Given the description of an element on the screen output the (x, y) to click on. 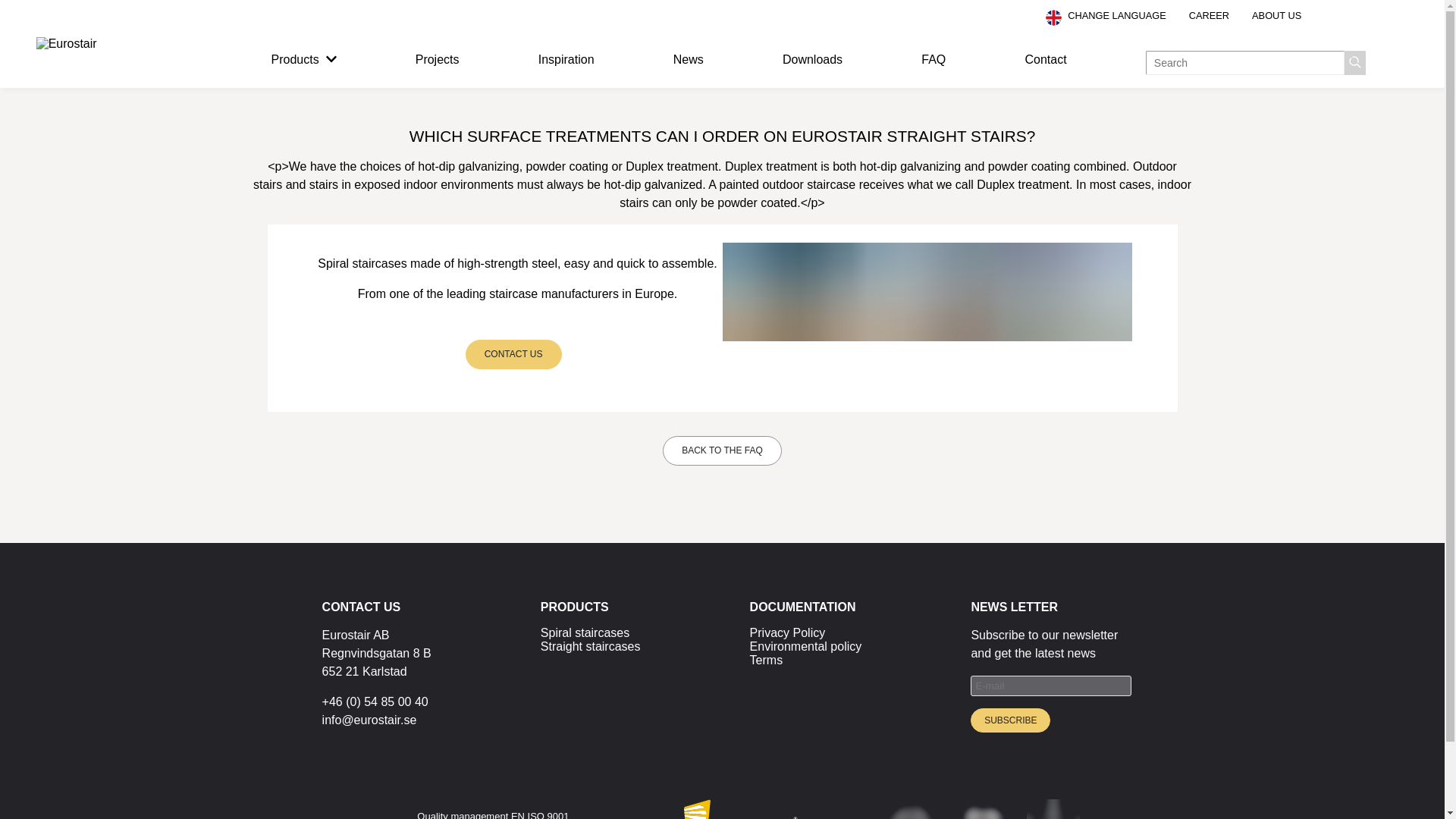
Inspiration (566, 59)
CAREER (1208, 15)
Contact (1045, 59)
News (687, 59)
FAQ (932, 59)
Eurostair (740, 809)
Downloads (813, 59)
ABOUT US (1276, 15)
Projects (437, 59)
